Given the description of an element on the screen output the (x, y) to click on. 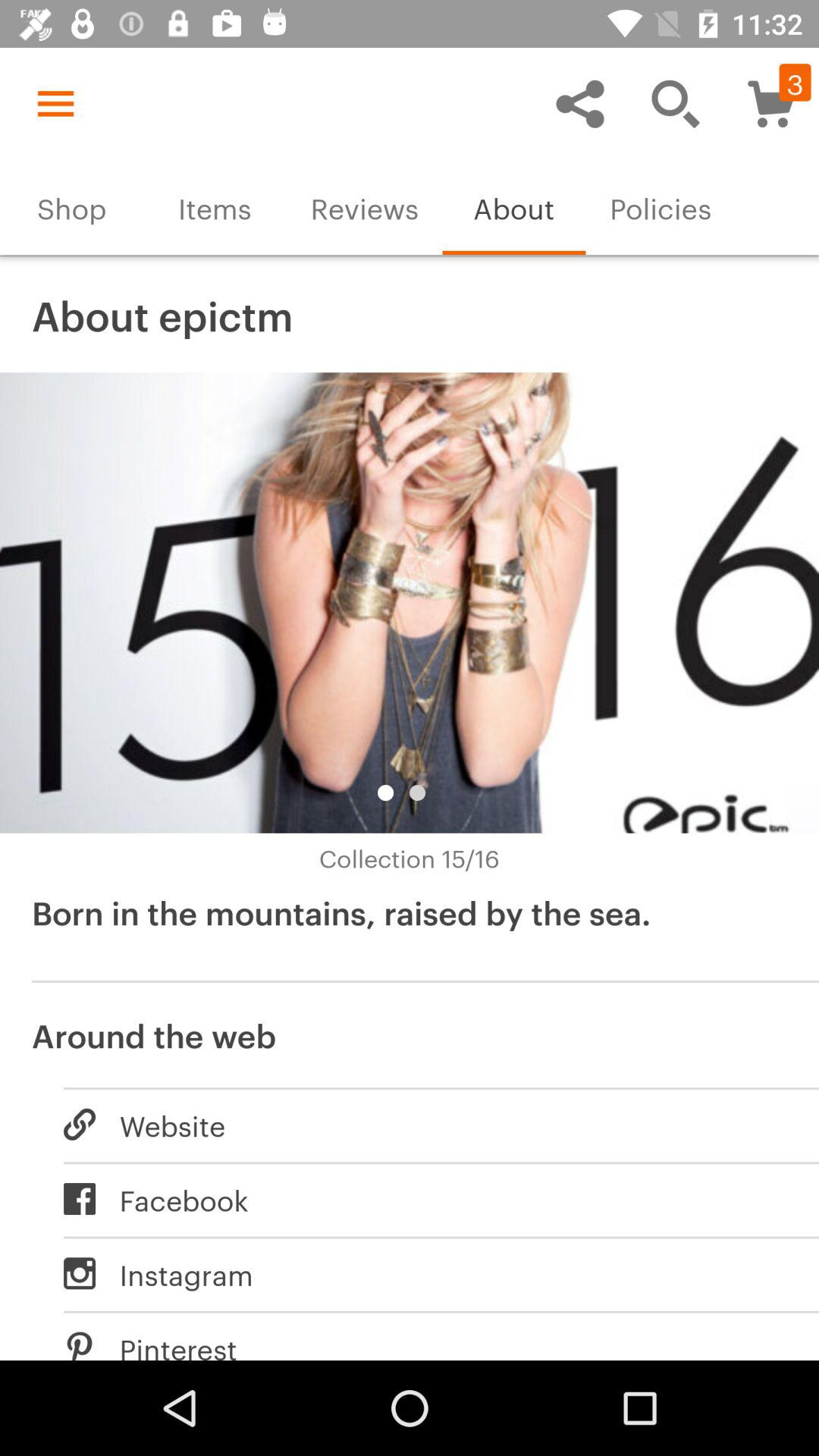
select the icon below the born in the (409, 1033)
